Given the description of an element on the screen output the (x, y) to click on. 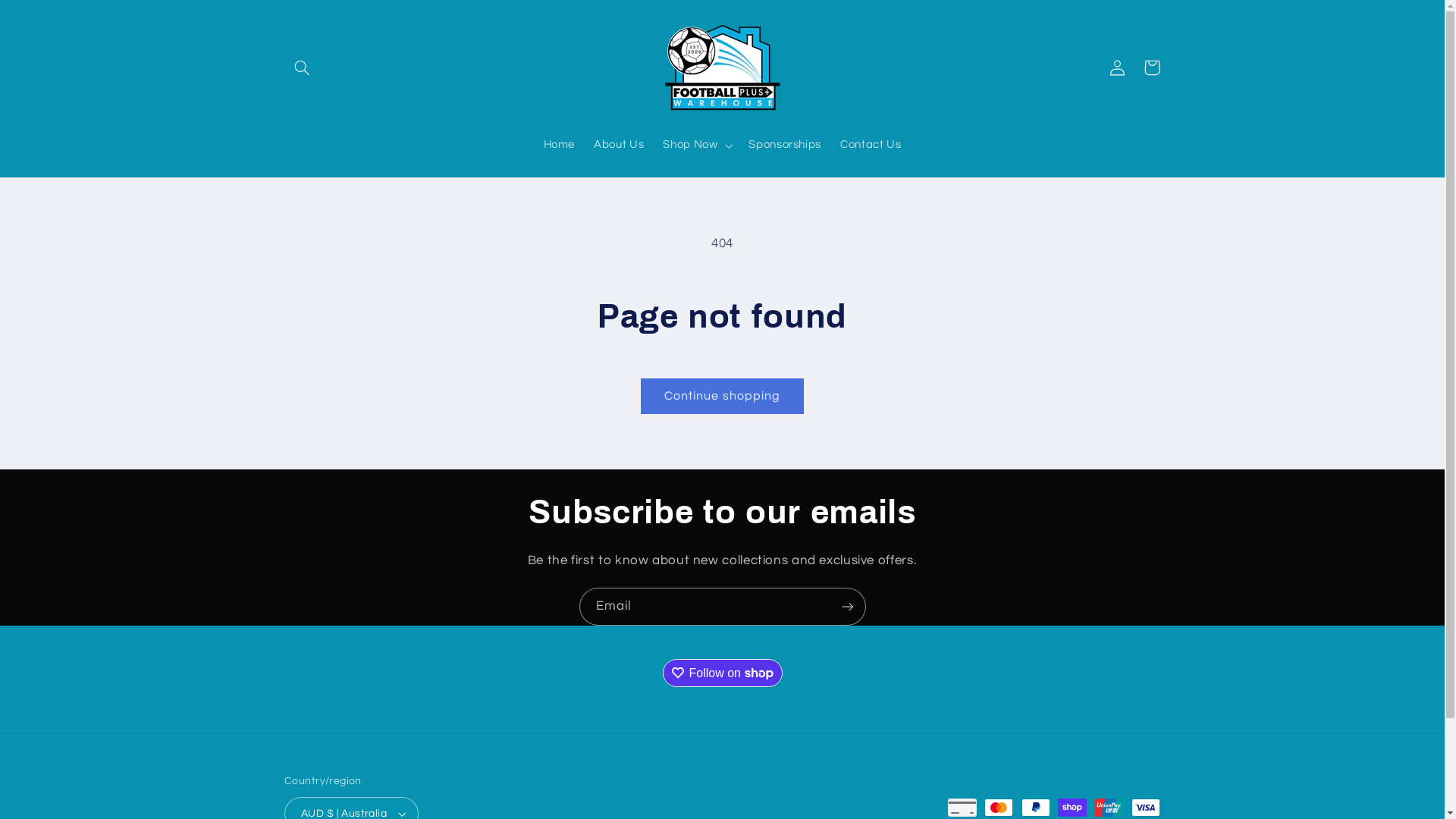
Log in Element type: text (1116, 67)
Contact Us Element type: text (871, 145)
About Us Element type: text (618, 145)
Sponsorships Element type: text (785, 145)
Cart Element type: text (1151, 67)
Home Element type: text (558, 145)
Continue shopping Element type: text (722, 396)
